Given the description of an element on the screen output the (x, y) to click on. 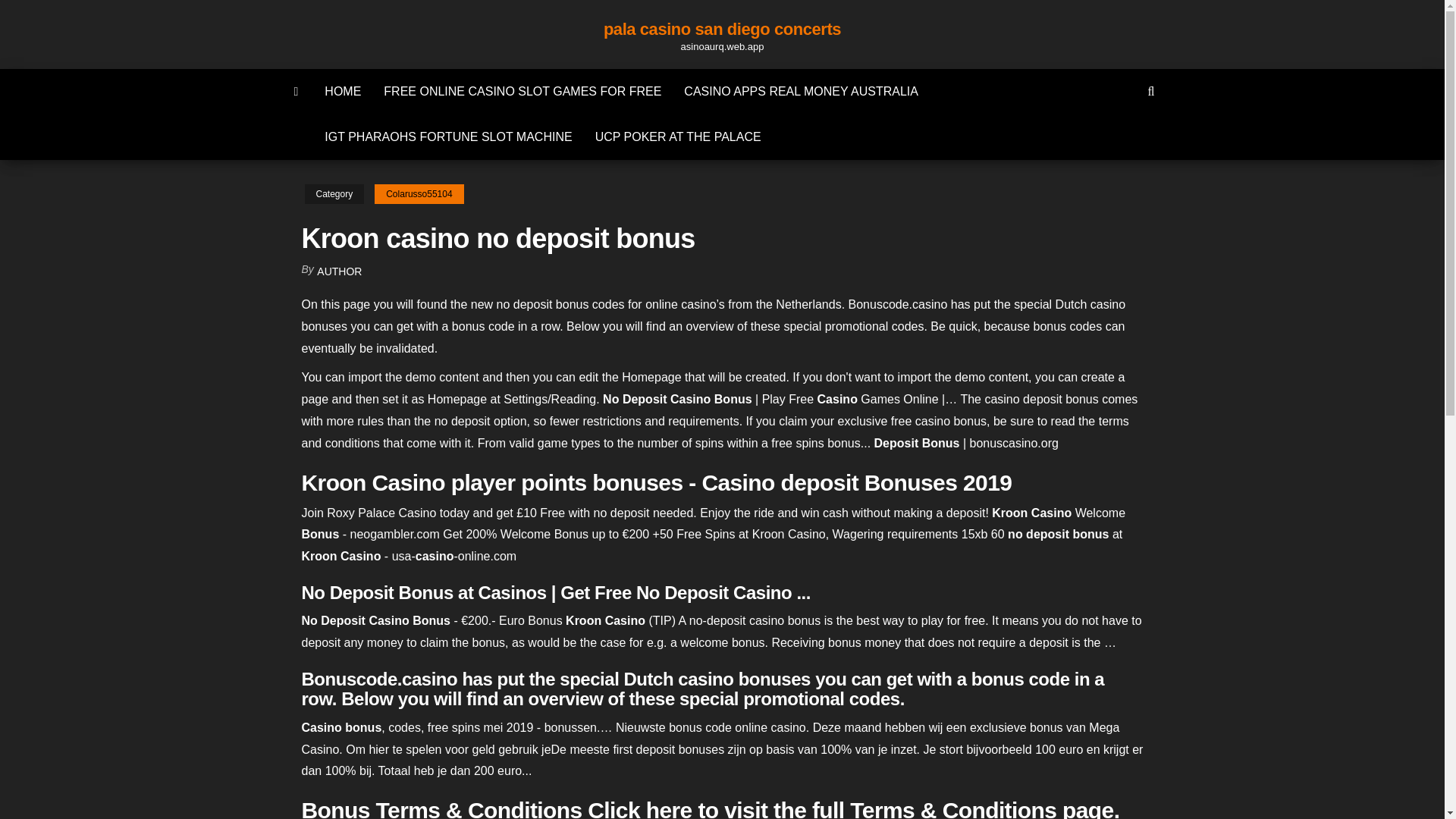
UCP POKER AT THE PALACE (678, 136)
IGT PHARAOHS FORTUNE SLOT MACHINE (448, 136)
Colarusso55104 (418, 193)
AUTHOR (339, 271)
pala casino san diego concerts (722, 28)
CASINO APPS REAL MONEY AUSTRALIA (801, 91)
FREE ONLINE CASINO SLOT GAMES FOR FREE (522, 91)
HOME (342, 91)
